Given the description of an element on the screen output the (x, y) to click on. 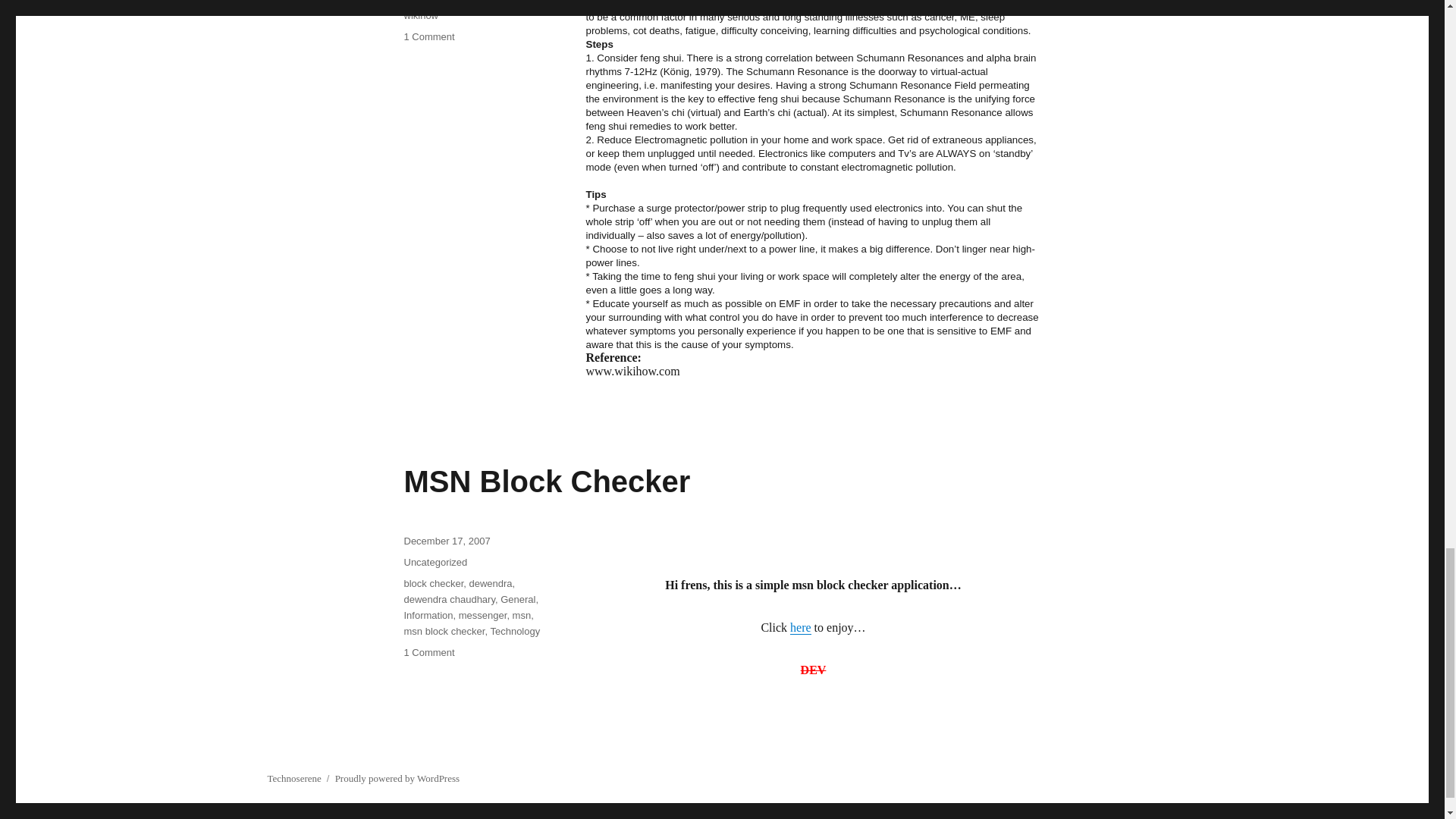
General (517, 599)
December 17, 2007 (446, 541)
dewendra chaudhary (449, 599)
msn (521, 614)
Information (427, 614)
Uncategorized (435, 562)
Information (448, 2)
stress (492, 2)
messenger (482, 614)
msn blockchecker (800, 626)
wiki (519, 2)
dewendra (490, 583)
wikihow (420, 15)
MSN Block Checker (546, 481)
here (800, 626)
